Given the description of an element on the screen output the (x, y) to click on. 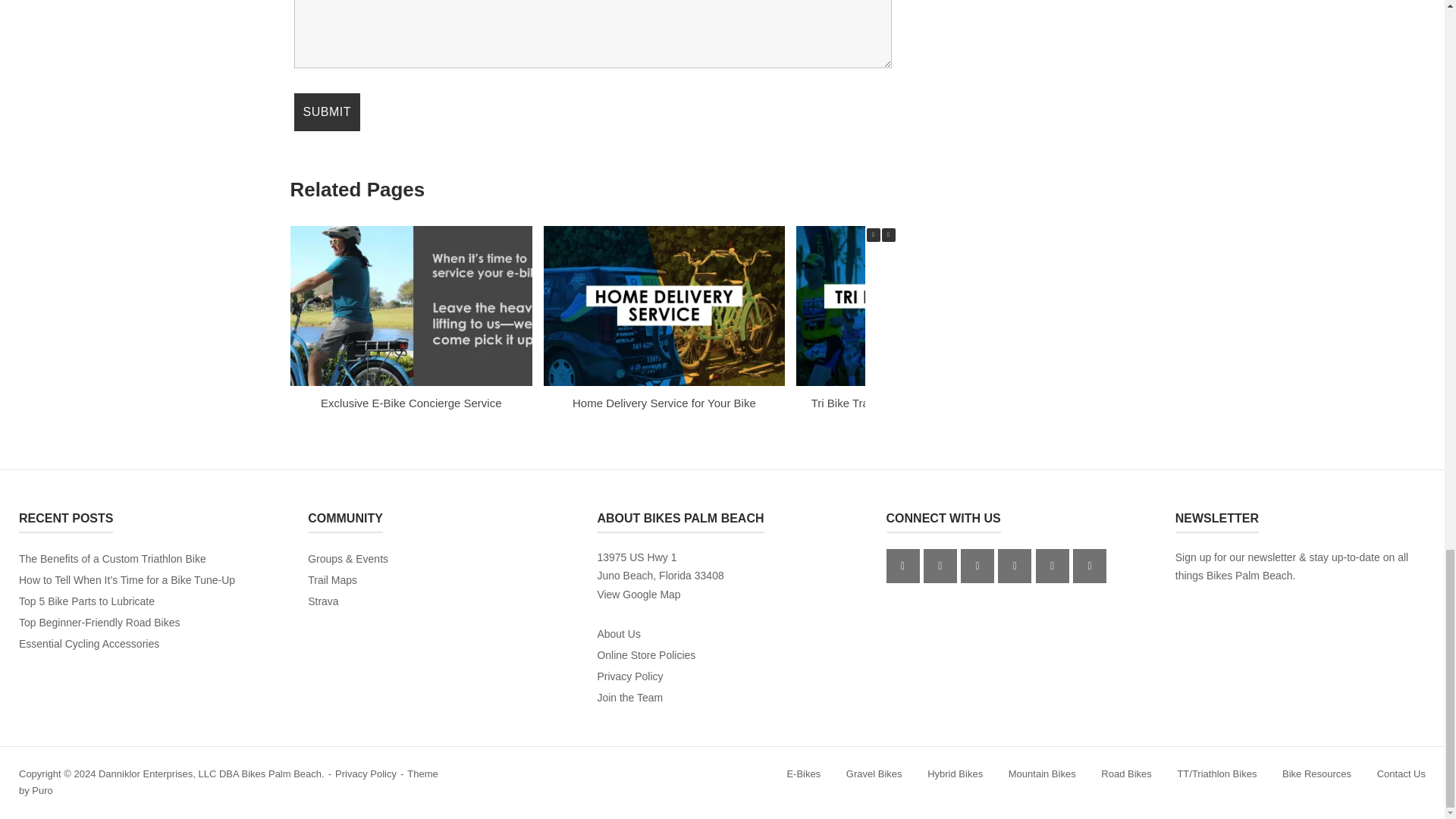
Submit (326, 112)
Previous (872, 234)
Facebook (903, 565)
Bikes Palm Beach on Envelope (1051, 565)
Next (887, 234)
Phone Bikes Palm Beach (1089, 565)
Instagram (939, 565)
Bikes Palm Beach on Linkedin (1013, 565)
YouTube (977, 565)
